Given the description of an element on the screen output the (x, y) to click on. 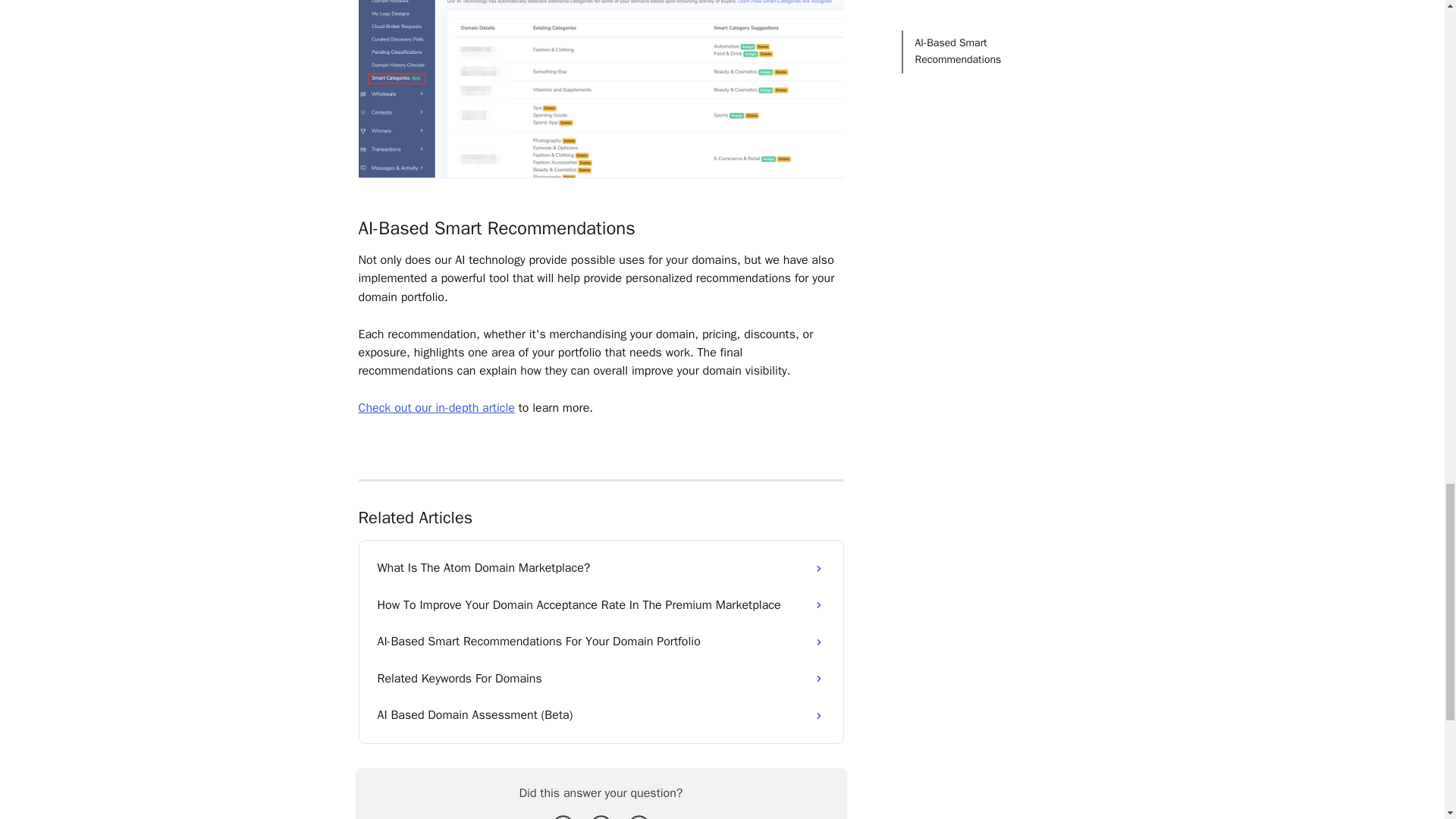
Check out our in-depth article (435, 407)
Smiley (638, 815)
Disappointed (562, 815)
Neutral (600, 815)
What Is The Atom Domain Marketplace? (601, 567)
AI-Based Smart Recommendations For Your Domain Portfolio (601, 641)
Related Keywords For Domains (601, 678)
